Given the description of an element on the screen output the (x, y) to click on. 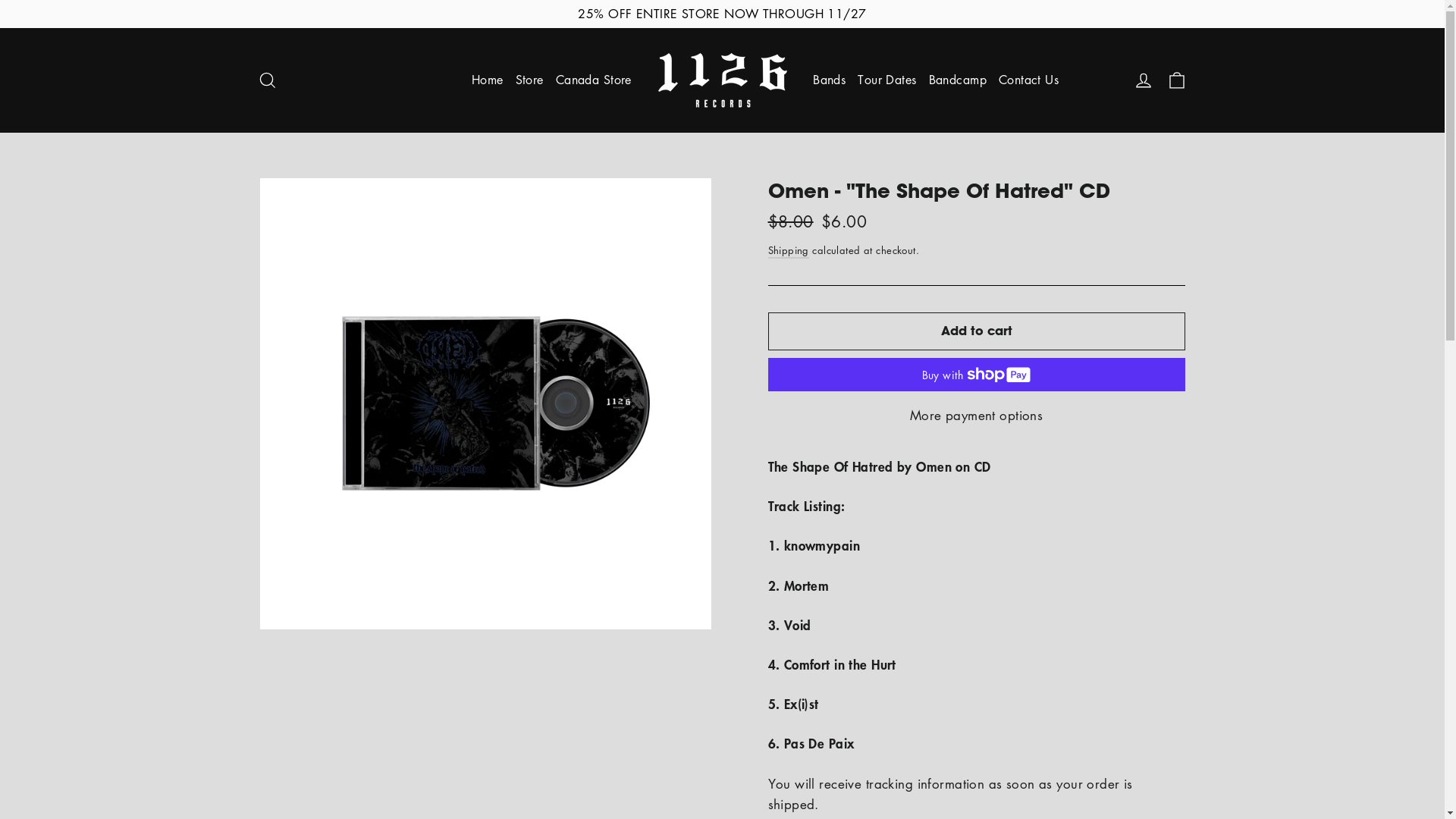
Home Element type: text (487, 79)
Contact Us Element type: text (1028, 79)
Log in Element type: text (1143, 80)
Add to cart Element type: text (975, 331)
Shipping Element type: text (787, 250)
Store Element type: text (529, 79)
Tour Dates Element type: text (886, 79)
Cart Element type: text (1176, 80)
More payment options Element type: text (975, 415)
Bands Element type: text (828, 79)
Canada Store Element type: text (593, 79)
Search Element type: text (266, 80)
Bandcamp Element type: text (957, 79)
Skip to content Element type: text (0, 0)
